Given the description of an element on the screen output the (x, y) to click on. 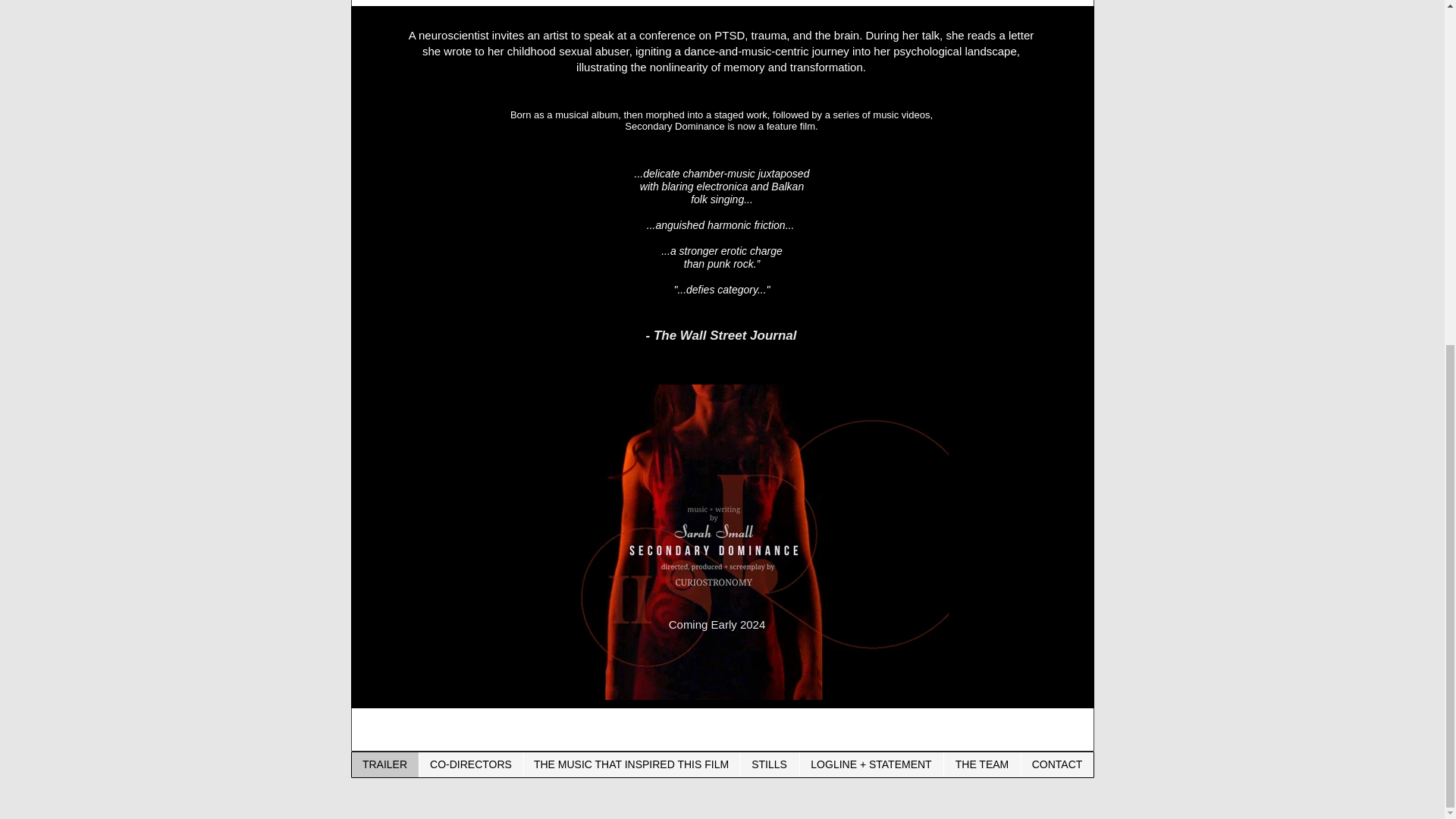
CONTACT (1056, 764)
Coming Early 2024 (716, 624)
CO-DIRECTORS (470, 764)
STILLS (767, 764)
THE MUSIC THAT INSPIRED THIS FILM (630, 764)
THE TEAM (981, 764)
TRAILER (385, 764)
